Given the description of an element on the screen output the (x, y) to click on. 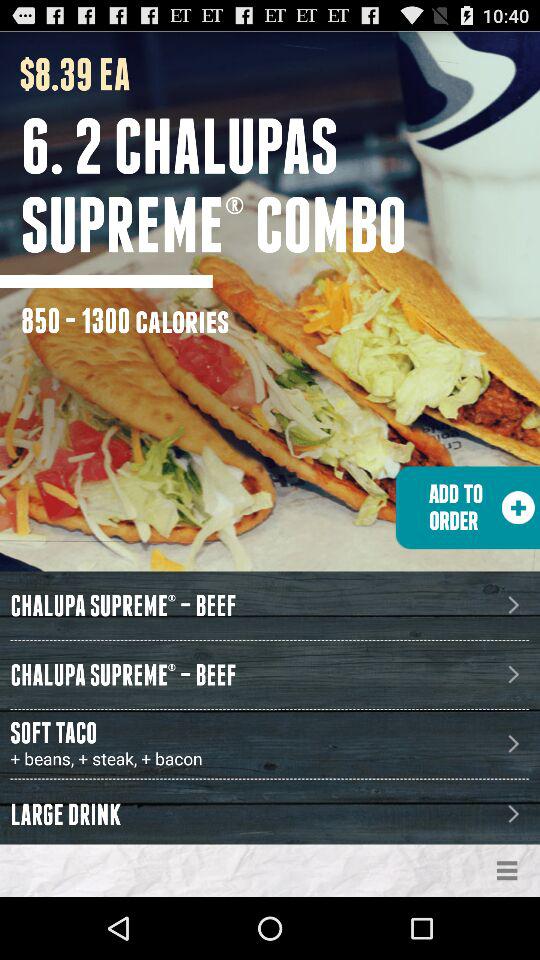
scroll to the $8.39 ea icon (65, 74)
